Given the description of an element on the screen output the (x, y) to click on. 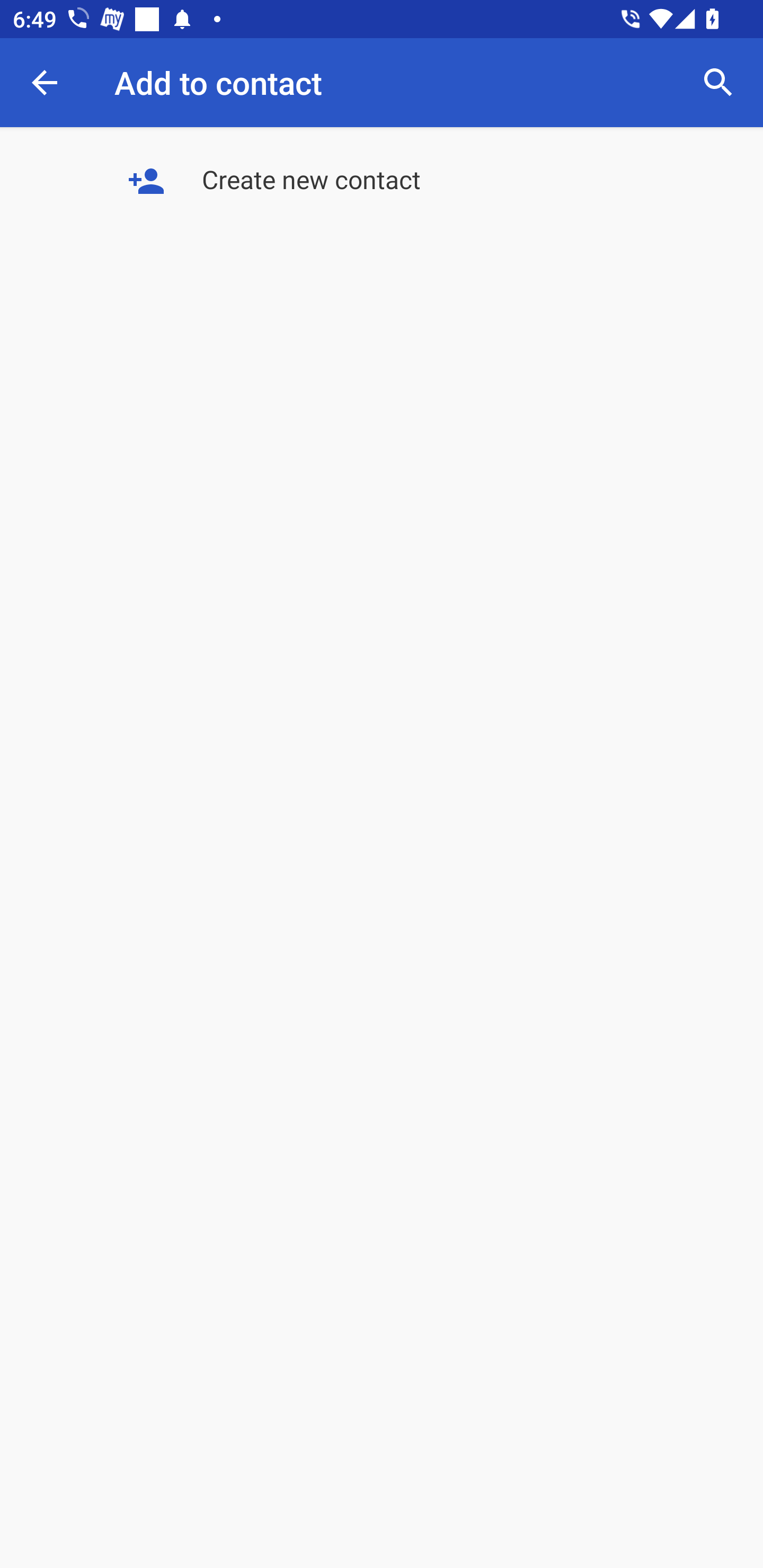
Navigate up (44, 82)
Search contacts (718, 81)
Create new contact (381, 182)
